Given the description of an element on the screen output the (x, y) to click on. 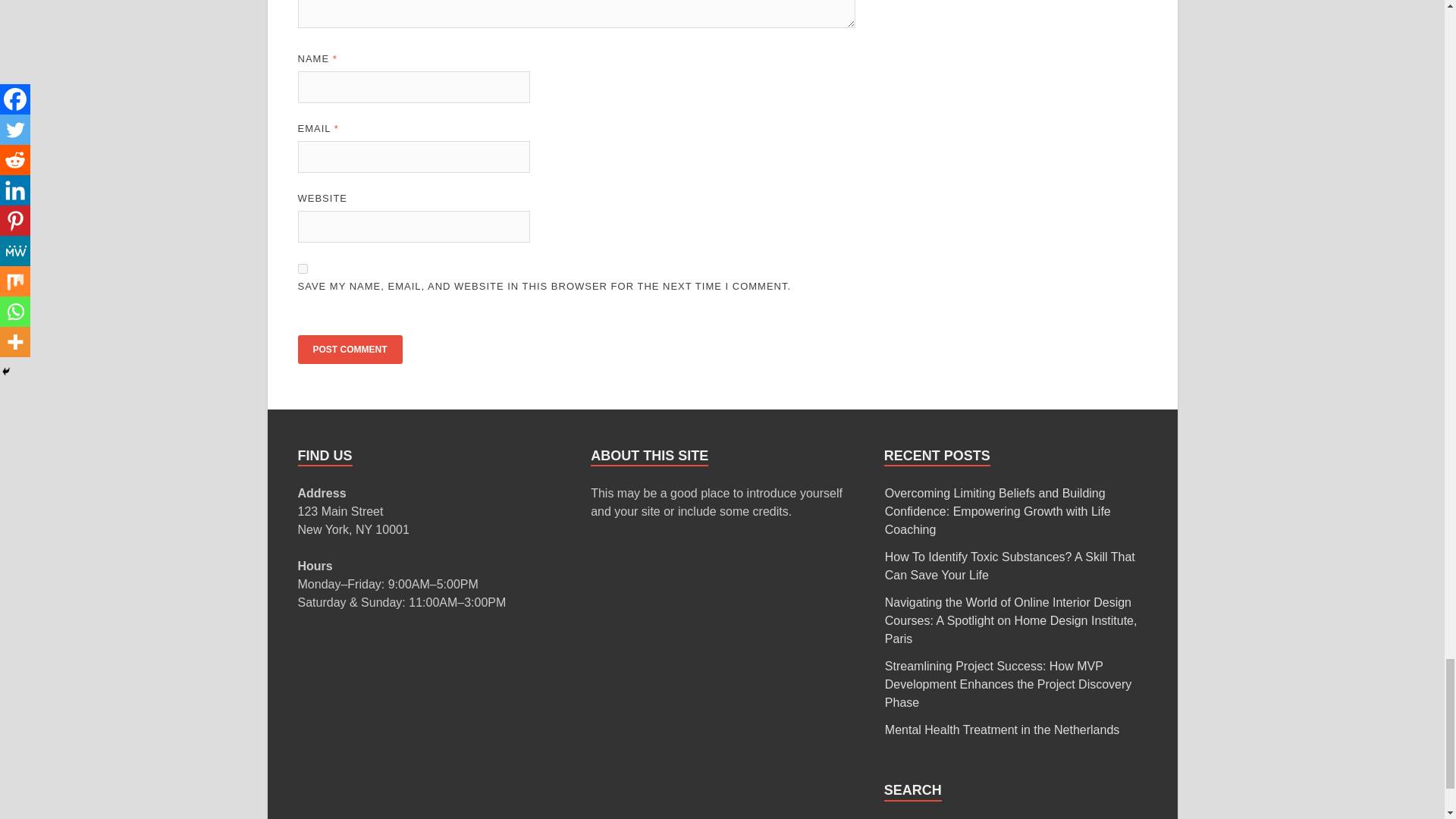
Post Comment (349, 348)
yes (302, 268)
